Given the description of an element on the screen output the (x, y) to click on. 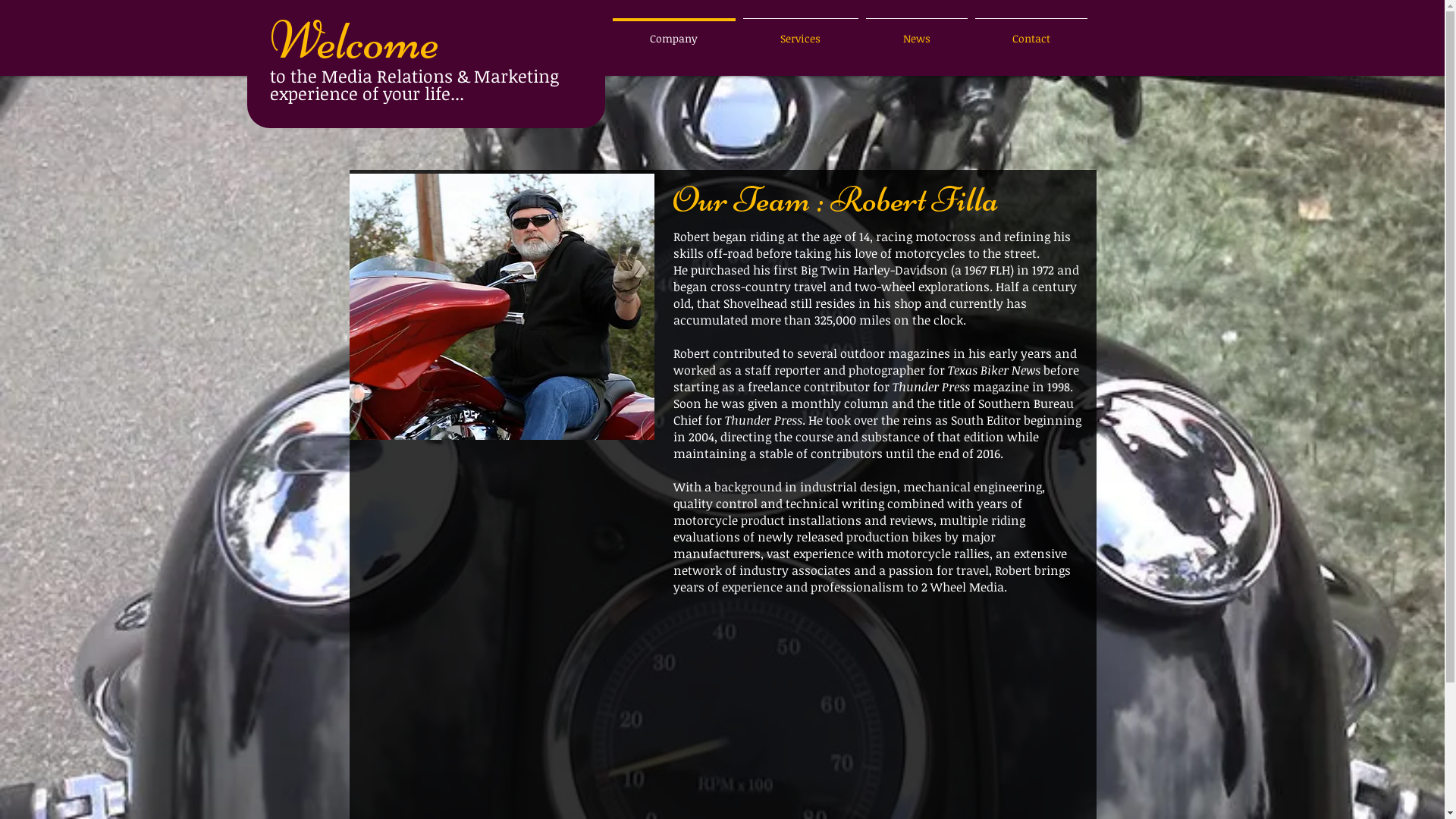
Services Element type: text (799, 31)
News Element type: text (915, 31)
Contact Element type: text (1030, 31)
Robert Filla.jpg Element type: hover (500, 306)
Company Element type: text (673, 31)
